Given the description of an element on the screen output the (x, y) to click on. 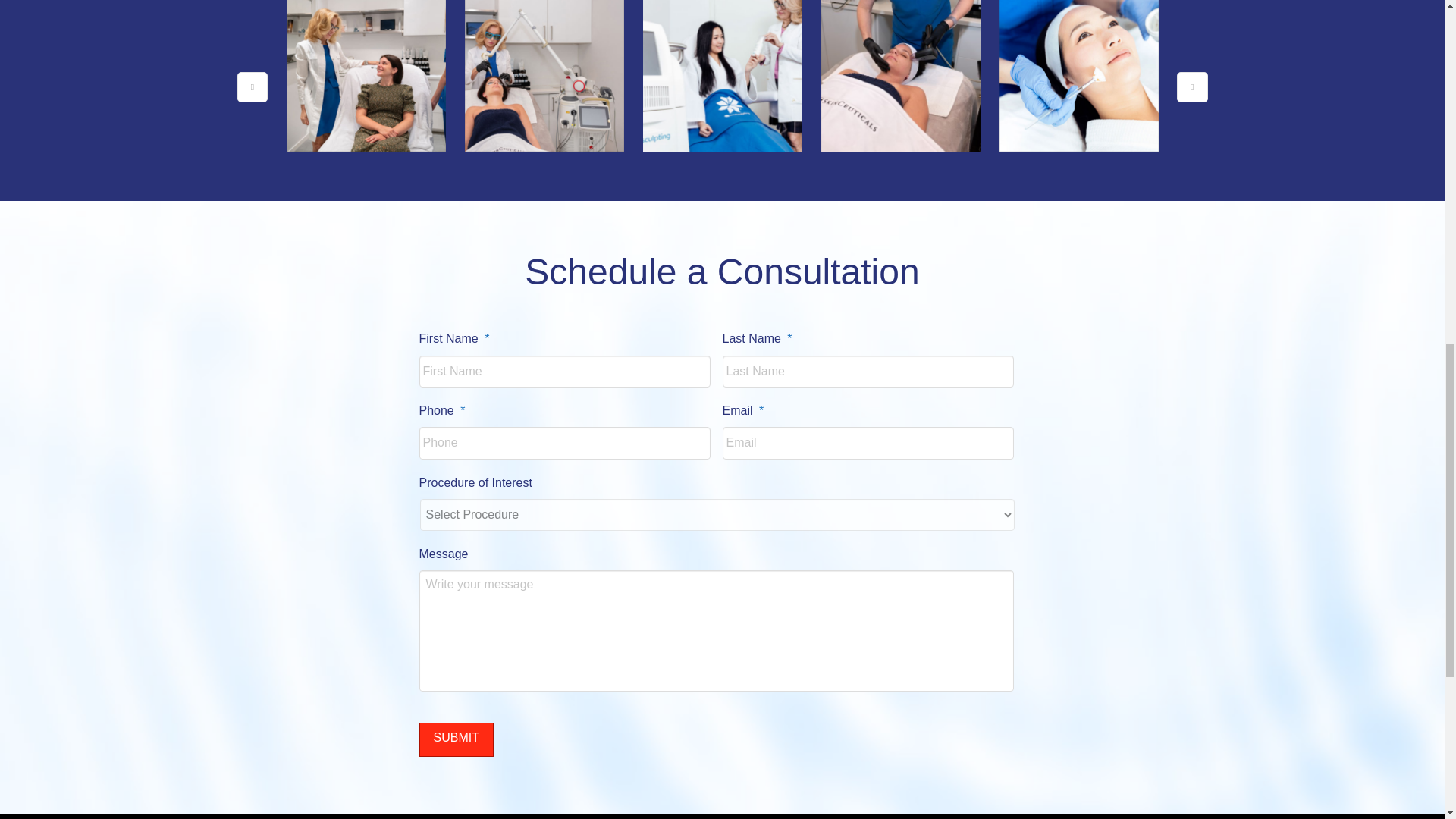
Submit (456, 739)
